Given the description of an element on the screen output the (x, y) to click on. 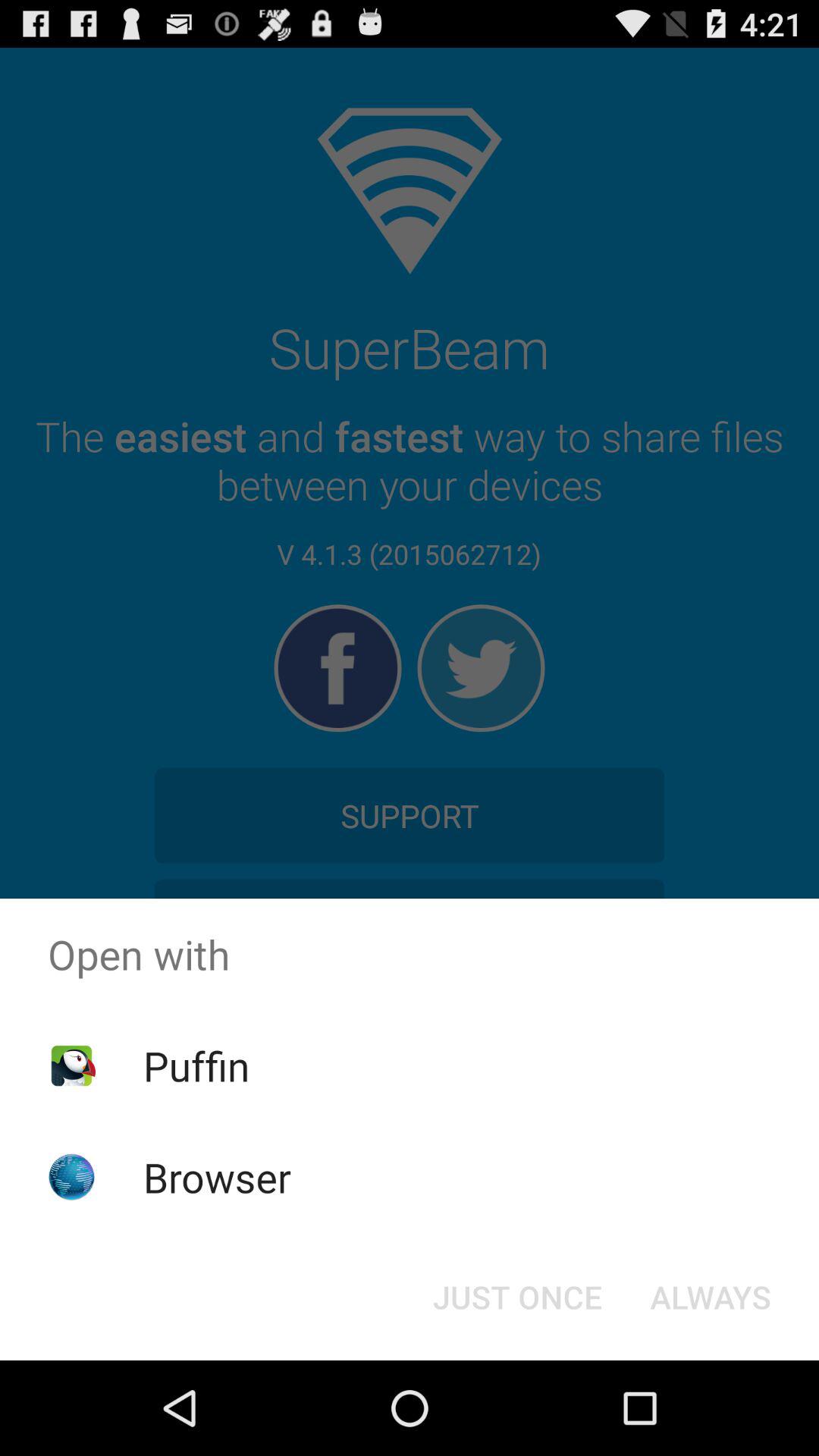
choose browser app (217, 1176)
